Given the description of an element on the screen output the (x, y) to click on. 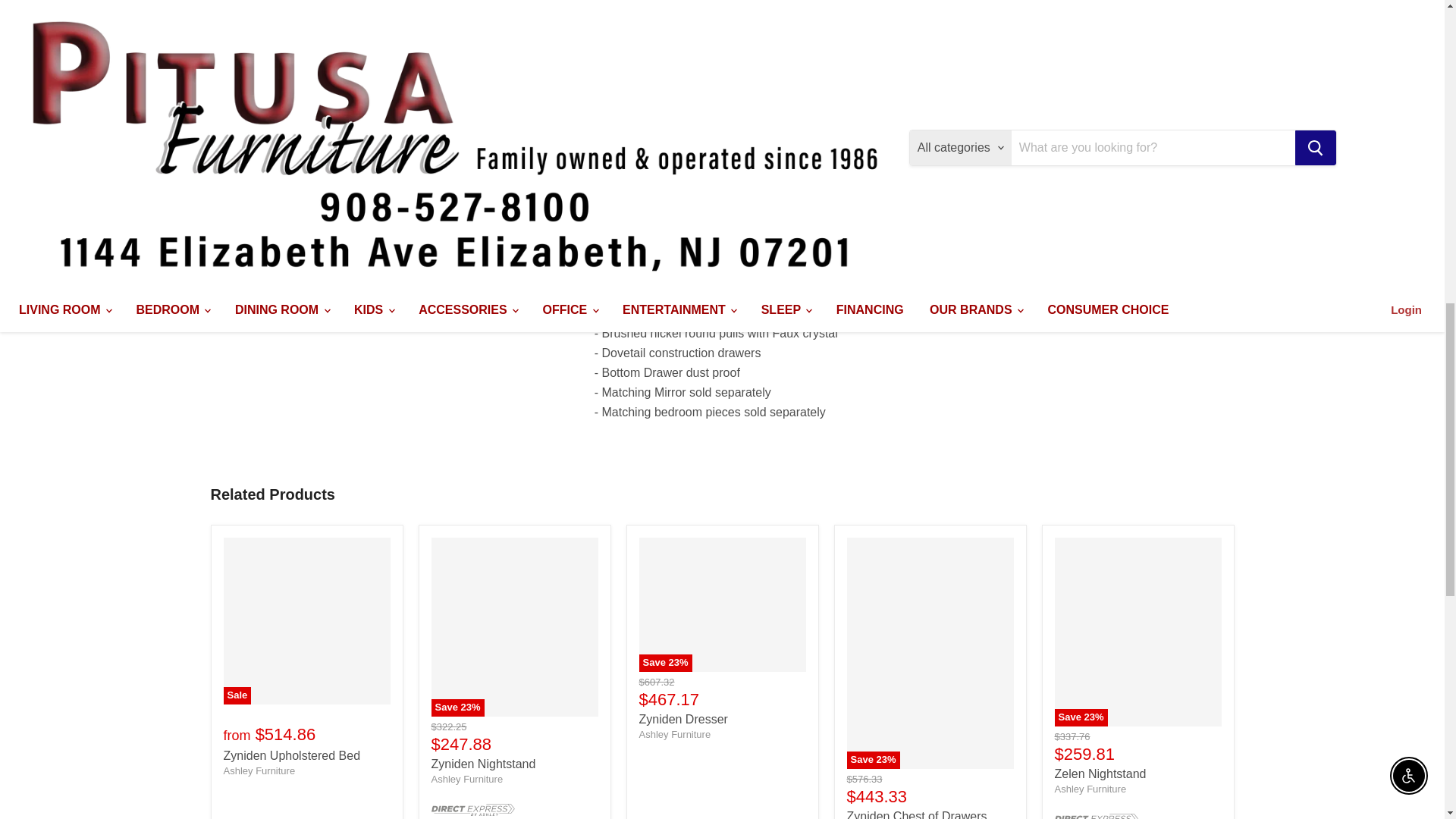
Ashley Furniture (674, 734)
Ashley Furniture (258, 770)
Ashley Furniture (1089, 788)
Ashley Furniture (466, 778)
